Given the description of an element on the screen output the (x, y) to click on. 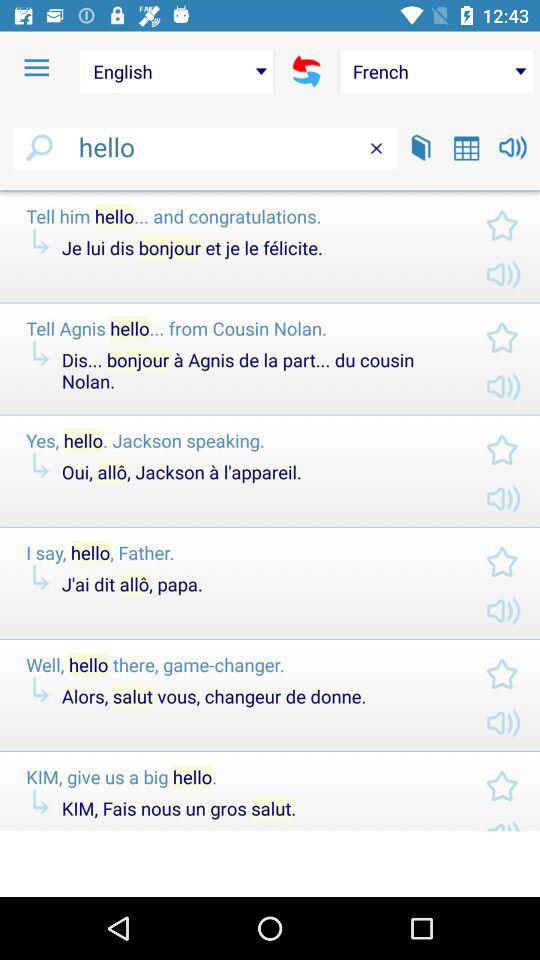
play speach (512, 147)
